Given the description of an element on the screen output the (x, y) to click on. 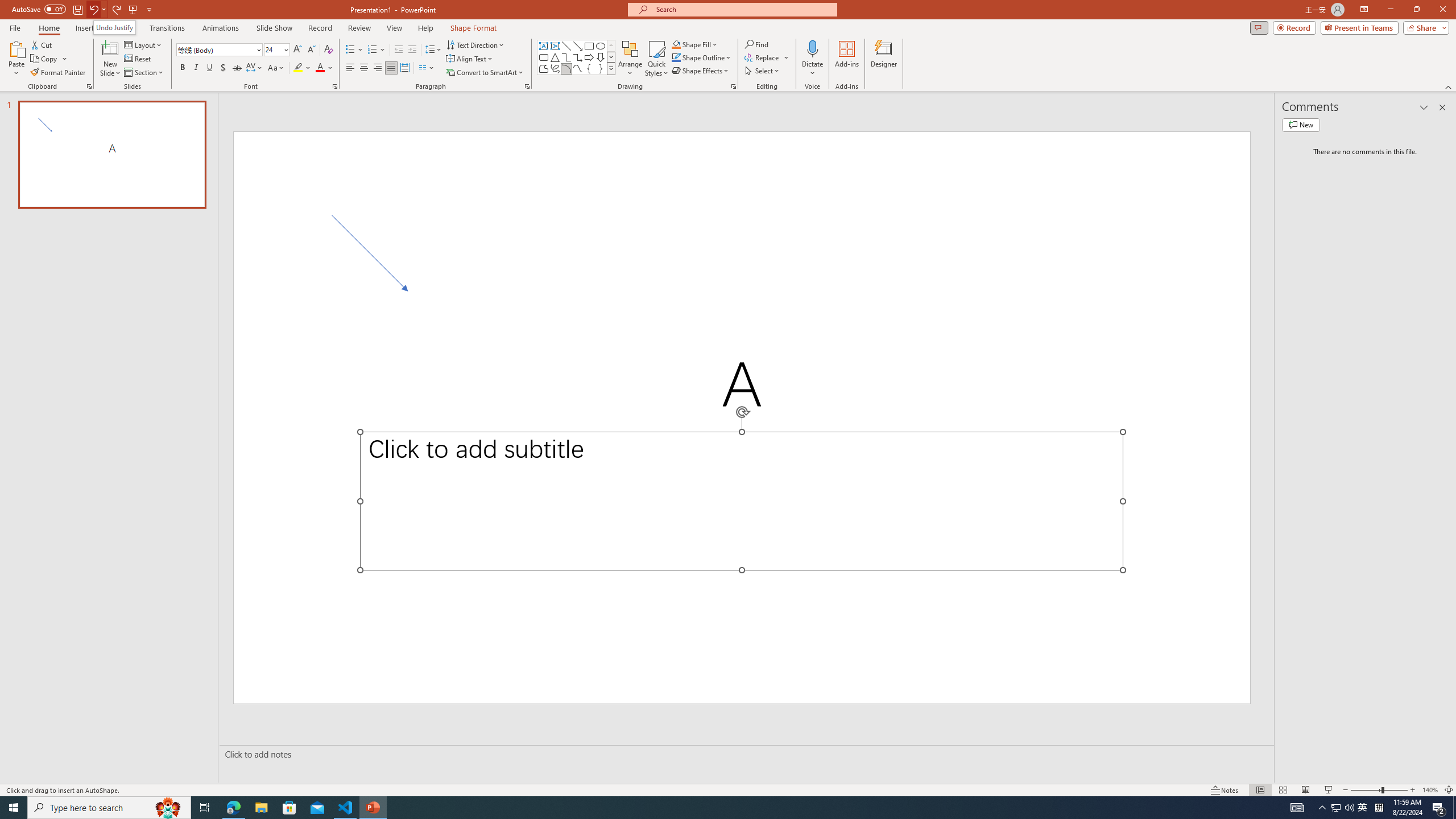
New comment (1300, 124)
